Given the description of an element on the screen output the (x, y) to click on. 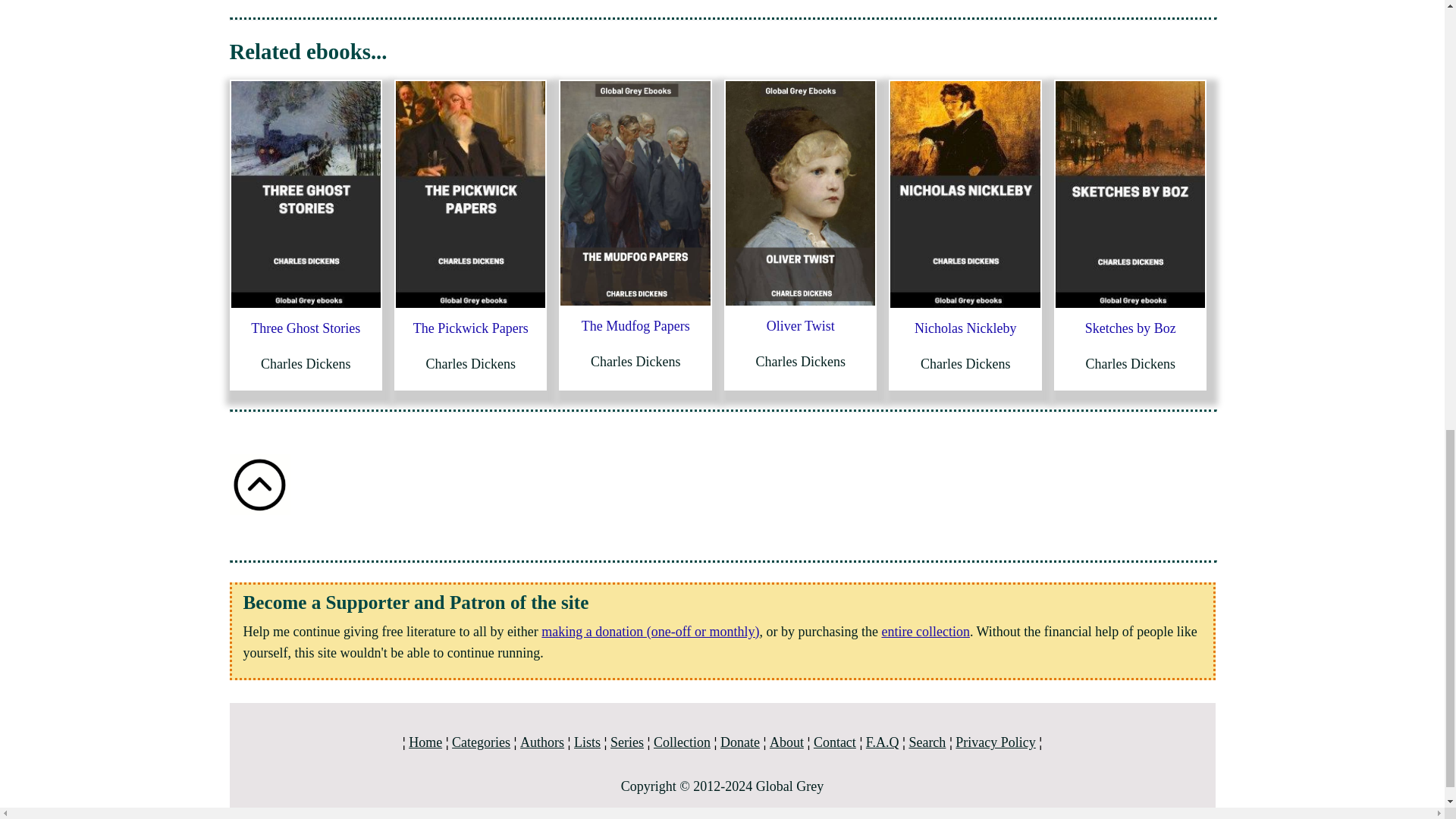
The Pickwick Papers (470, 328)
The Mudfog Papers (635, 325)
Three Ghost Stories (304, 328)
Oliver Twist (800, 325)
